Given the description of an element on the screen output the (x, y) to click on. 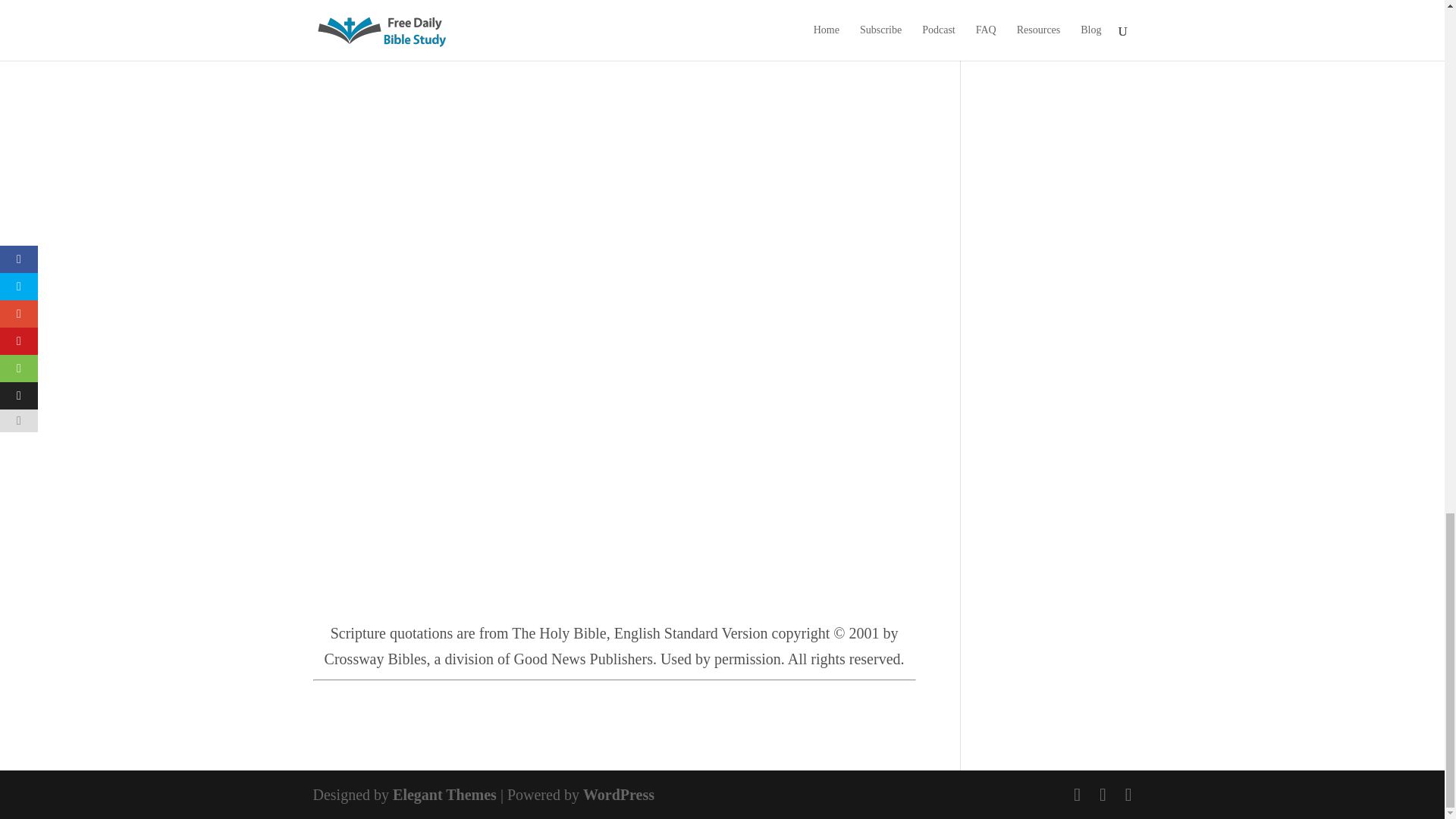
Premium WordPress Themes (444, 794)
Elegant Themes (444, 794)
WordPress (618, 794)
